Given the description of an element on the screen output the (x, y) to click on. 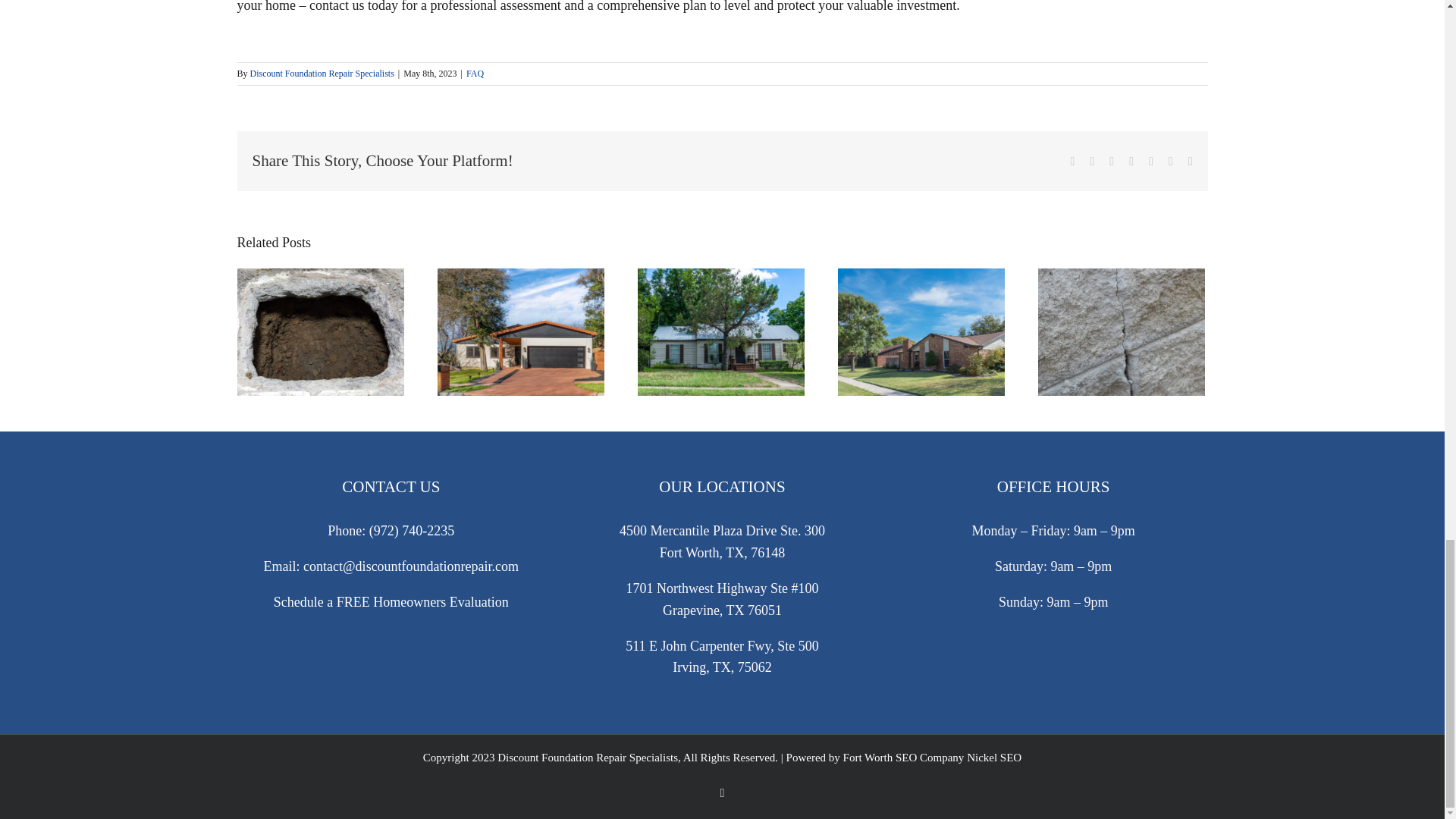
Posts by Discount Foundation Repair Specialists (322, 72)
